Given the description of an element on the screen output the (x, y) to click on. 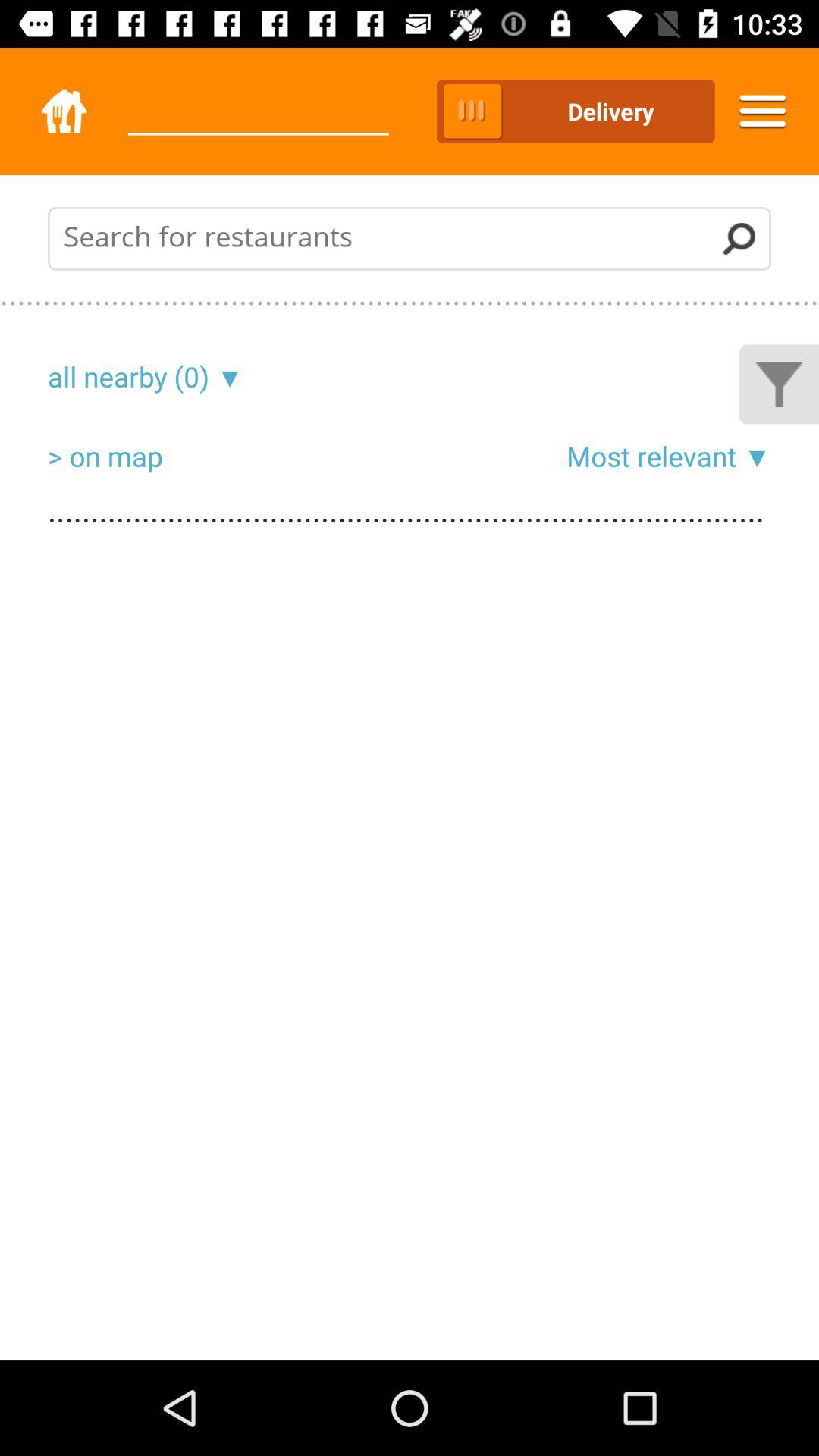
turn on item to the left of the most relevant icon (104, 455)
